Given the description of an element on the screen output the (x, y) to click on. 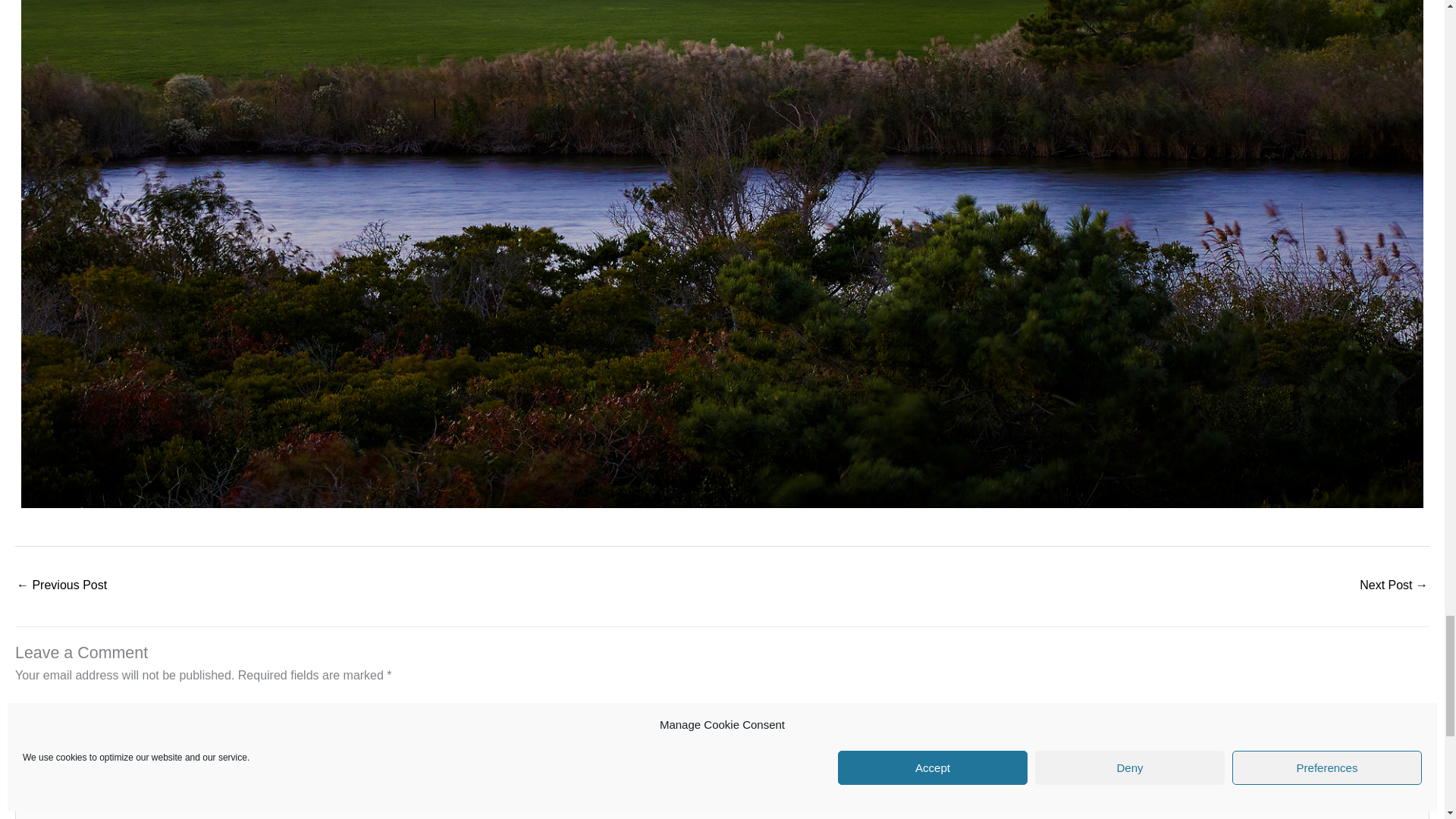
Lunch by Helicopter at Gstaad Palace (61, 586)
